Given the description of an element on the screen output the (x, y) to click on. 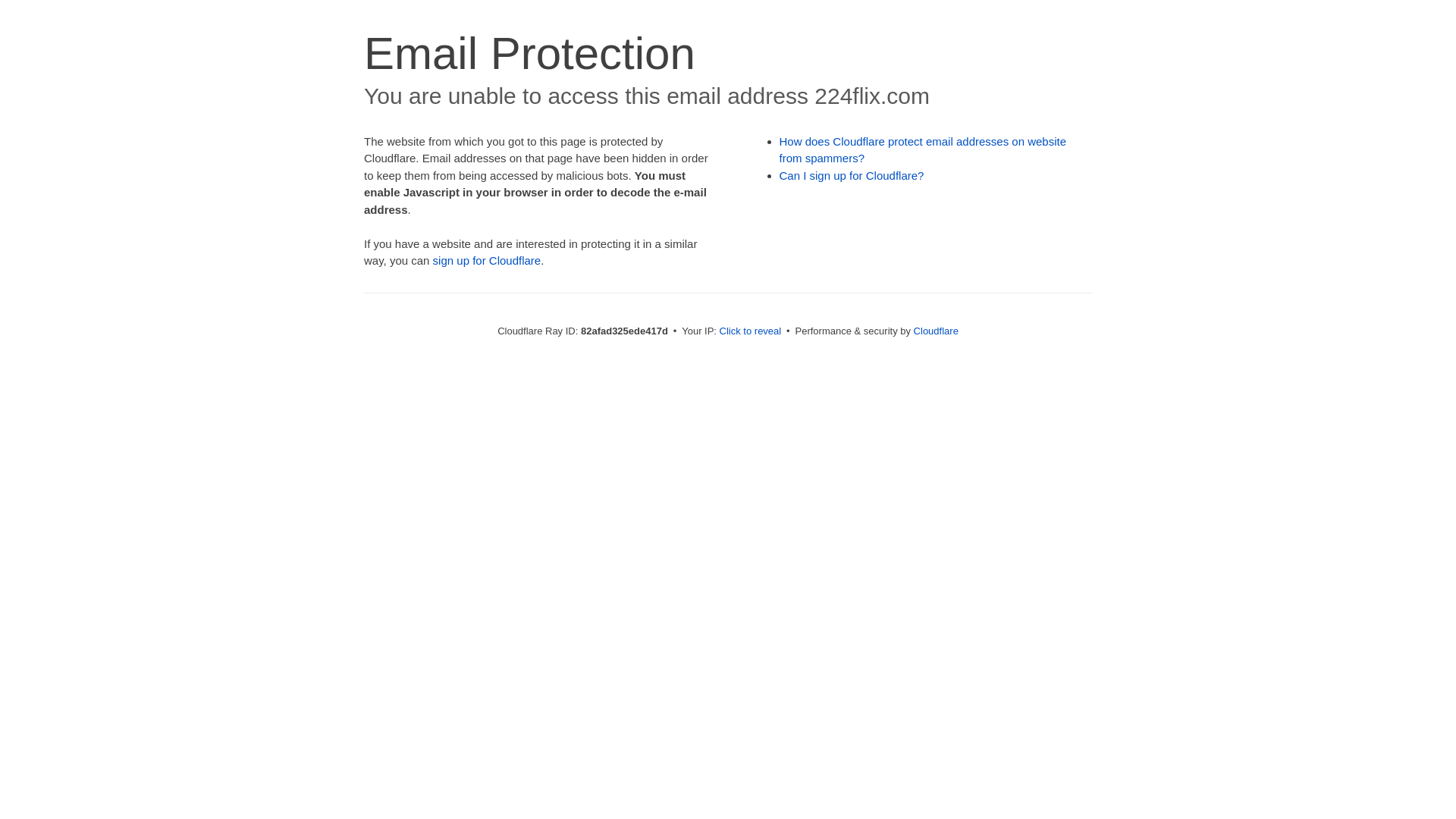
sign up for Cloudflare Element type: text (487, 260)
Cloudflare Element type: text (935, 330)
Can I sign up for Cloudflare? Element type: text (851, 175)
Click to reveal Element type: text (750, 330)
